Given the description of an element on the screen output the (x, y) to click on. 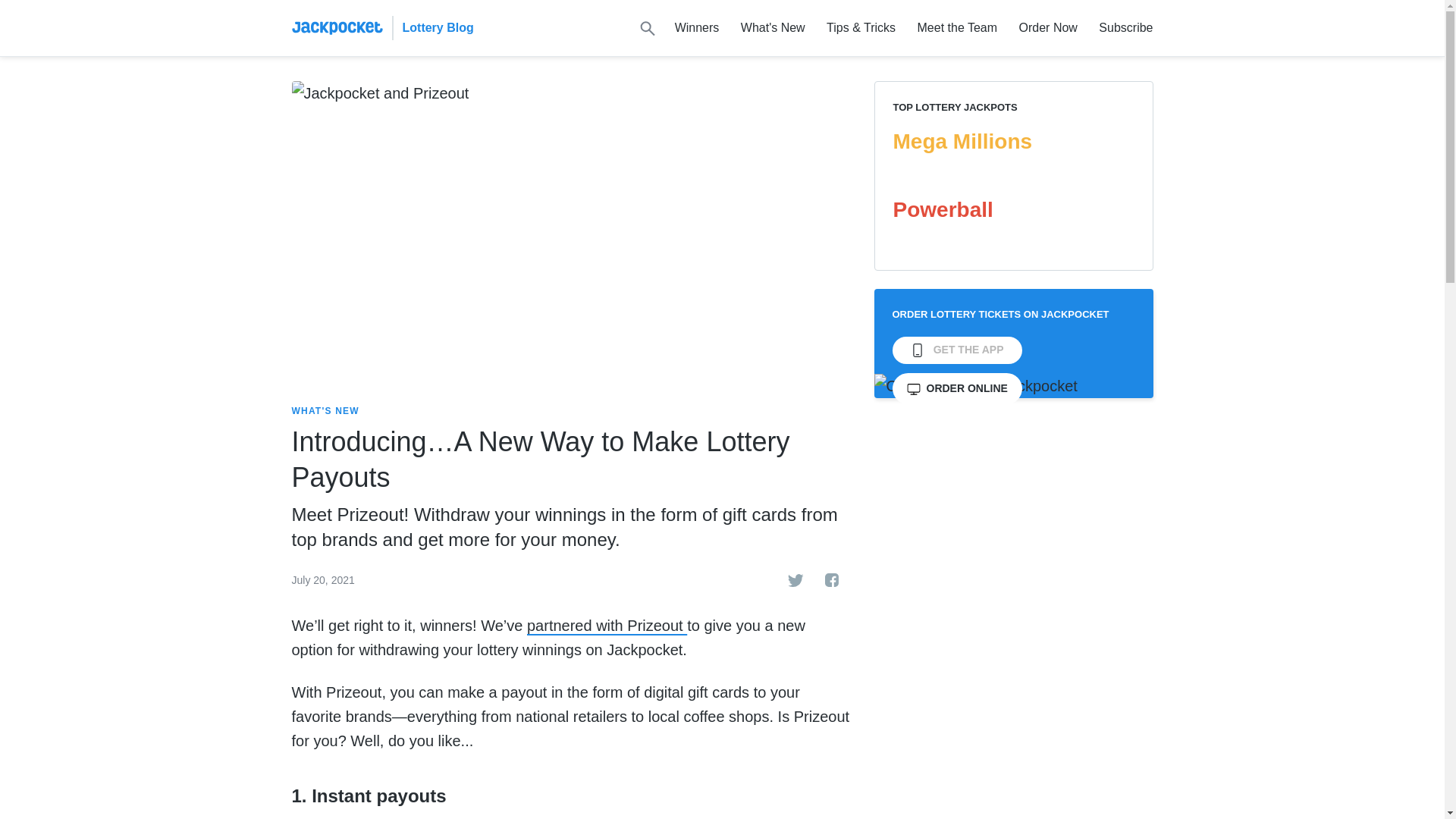
Subscribe (1125, 27)
WHAT'S NEW (324, 411)
Meet the Team (957, 27)
Winners (697, 27)
What's New (772, 27)
GET THE APP (956, 349)
partnered with Prizeout (607, 625)
Lottery Blog (437, 27)
Order Now (1048, 27)
ORDER ONLINE (956, 388)
